Given the description of an element on the screen output the (x, y) to click on. 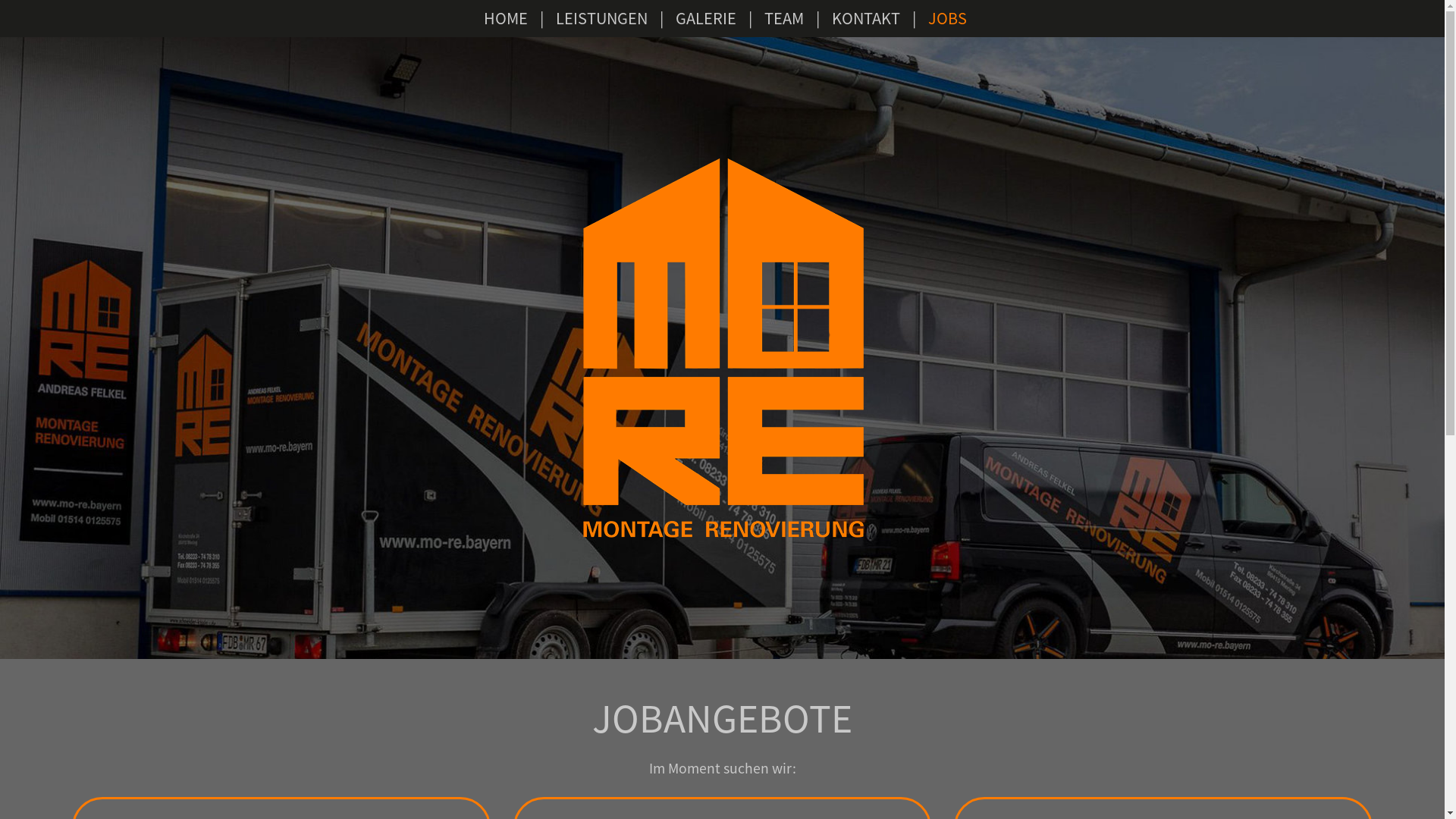
JOBS Element type: text (947, 17)
KONTAKT Element type: text (865, 17)
GALERIE Element type: text (705, 17)
LEISTUNGEN Element type: text (601, 17)
TEAM Element type: text (783, 17)
HOME Element type: text (505, 17)
